Given the description of an element on the screen output the (x, y) to click on. 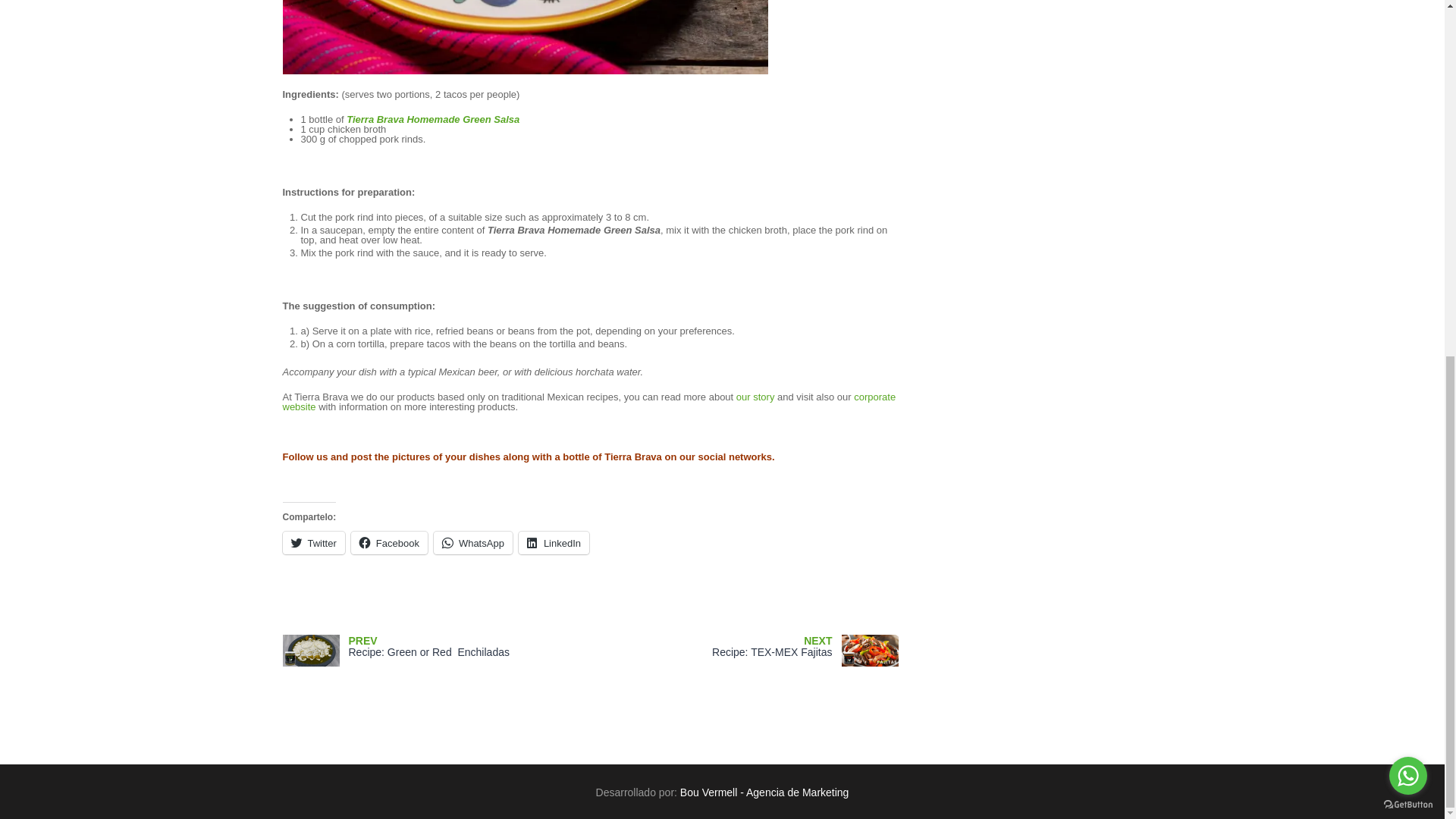
Click to share on Facebook (389, 542)
Click to share on Twitter (312, 542)
Click to share on LinkedIn (553, 542)
Click to share on WhatsApp (472, 542)
